Given the description of an element on the screen output the (x, y) to click on. 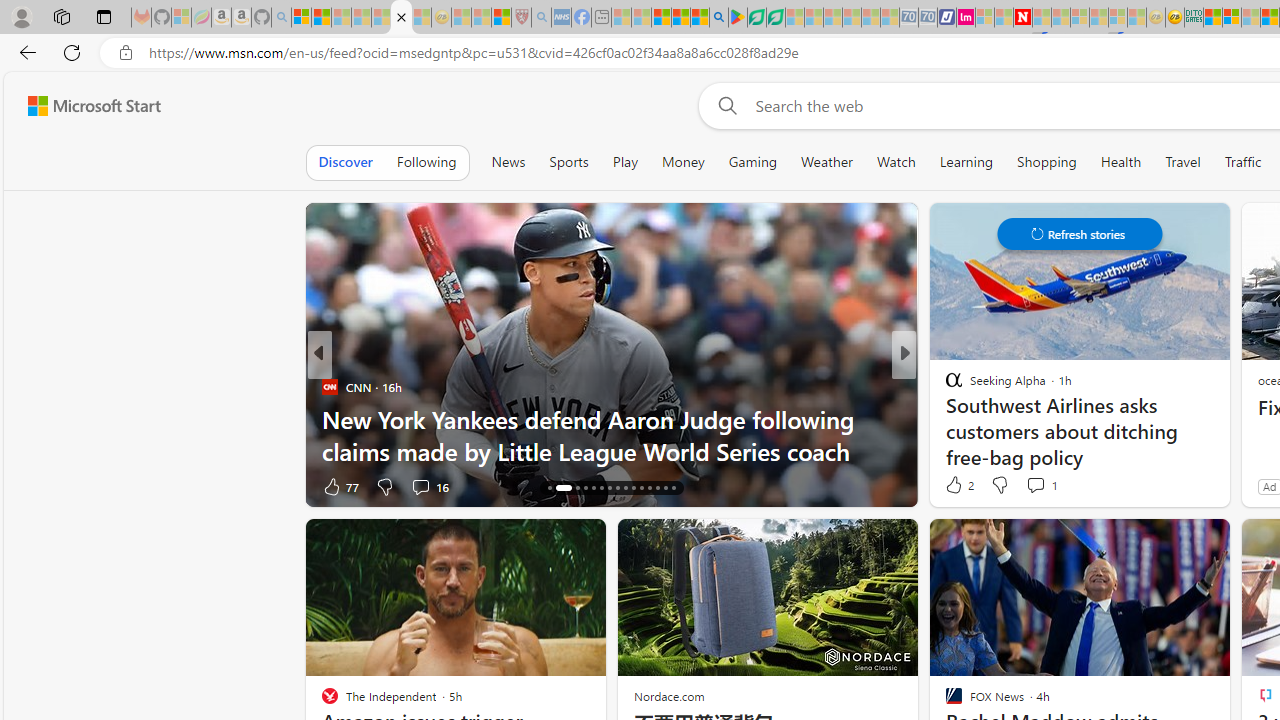
Marie Claire UK (944, 386)
The Independent (944, 386)
AutomationID: tab-24 (624, 487)
Local - MSN (500, 17)
